Given the description of an element on the screen output the (x, y) to click on. 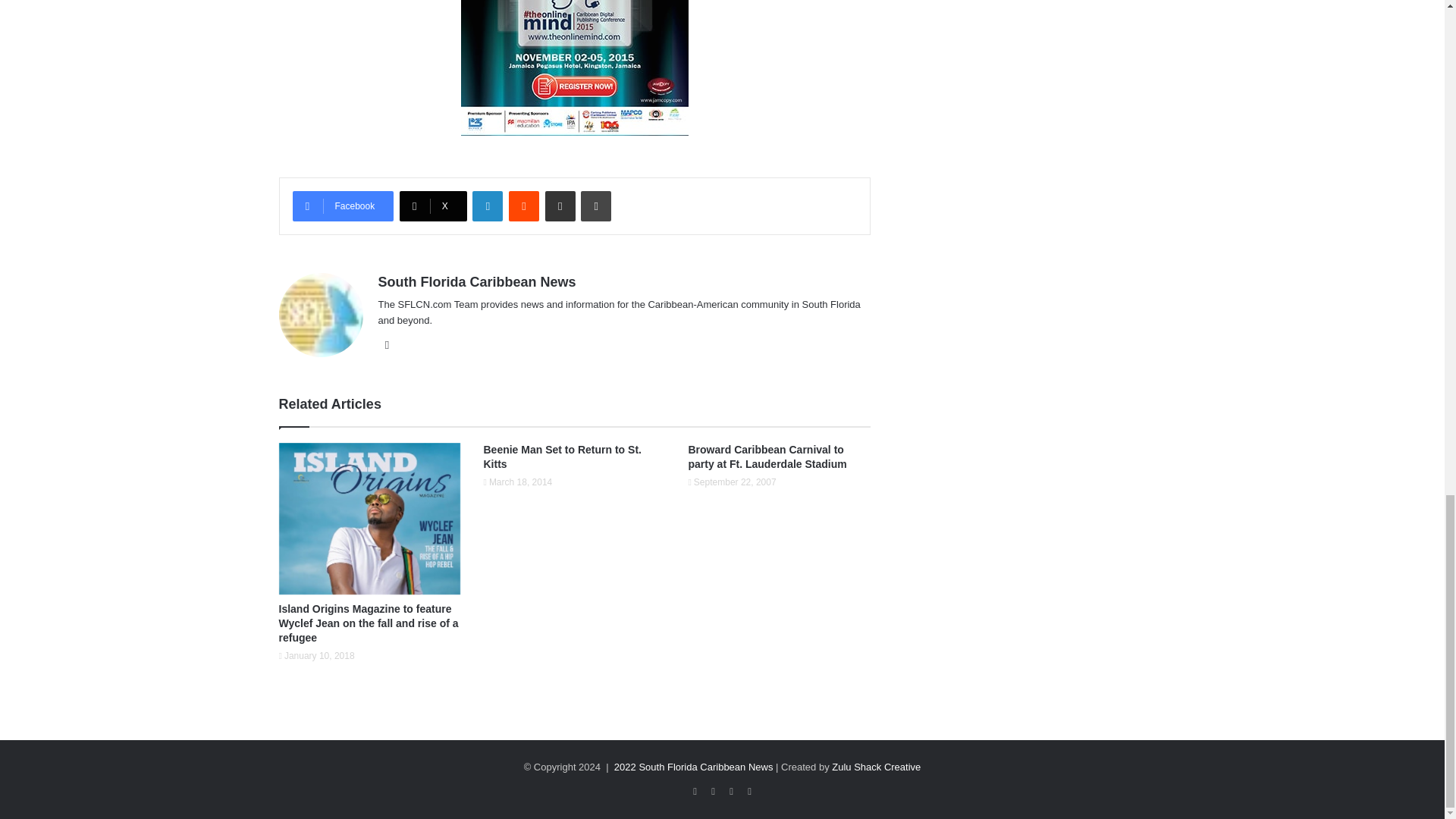
Print (595, 205)
X (432, 205)
Share via Email (559, 205)
Facebook (343, 205)
LinkedIn (486, 205)
Reddit (523, 205)
X (432, 205)
Facebook (343, 205)
LinkedIn (486, 205)
